Given the description of an element on the screen output the (x, y) to click on. 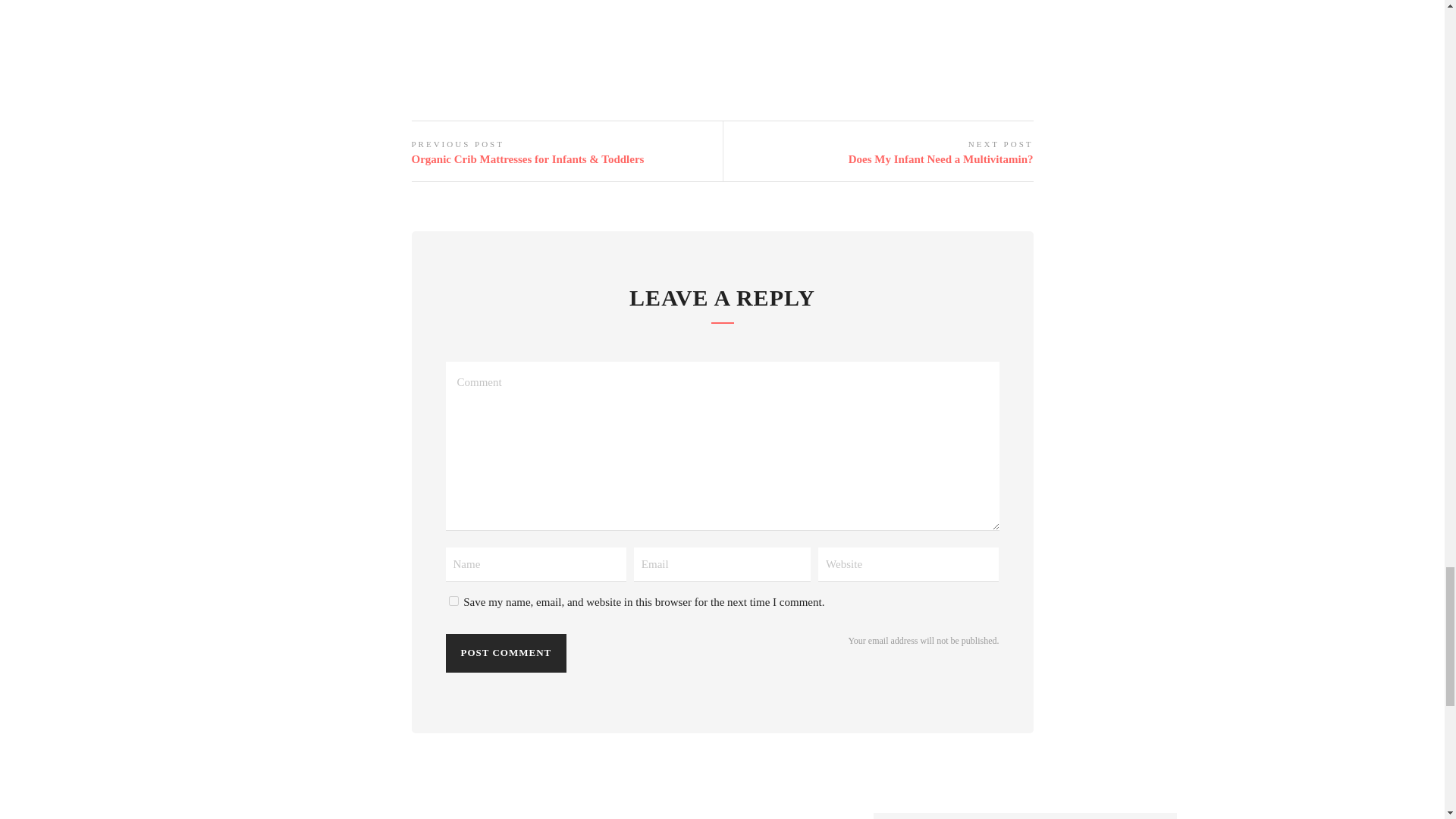
Post Comment (506, 652)
yes (453, 601)
